Given the description of an element on the screen output the (x, y) to click on. 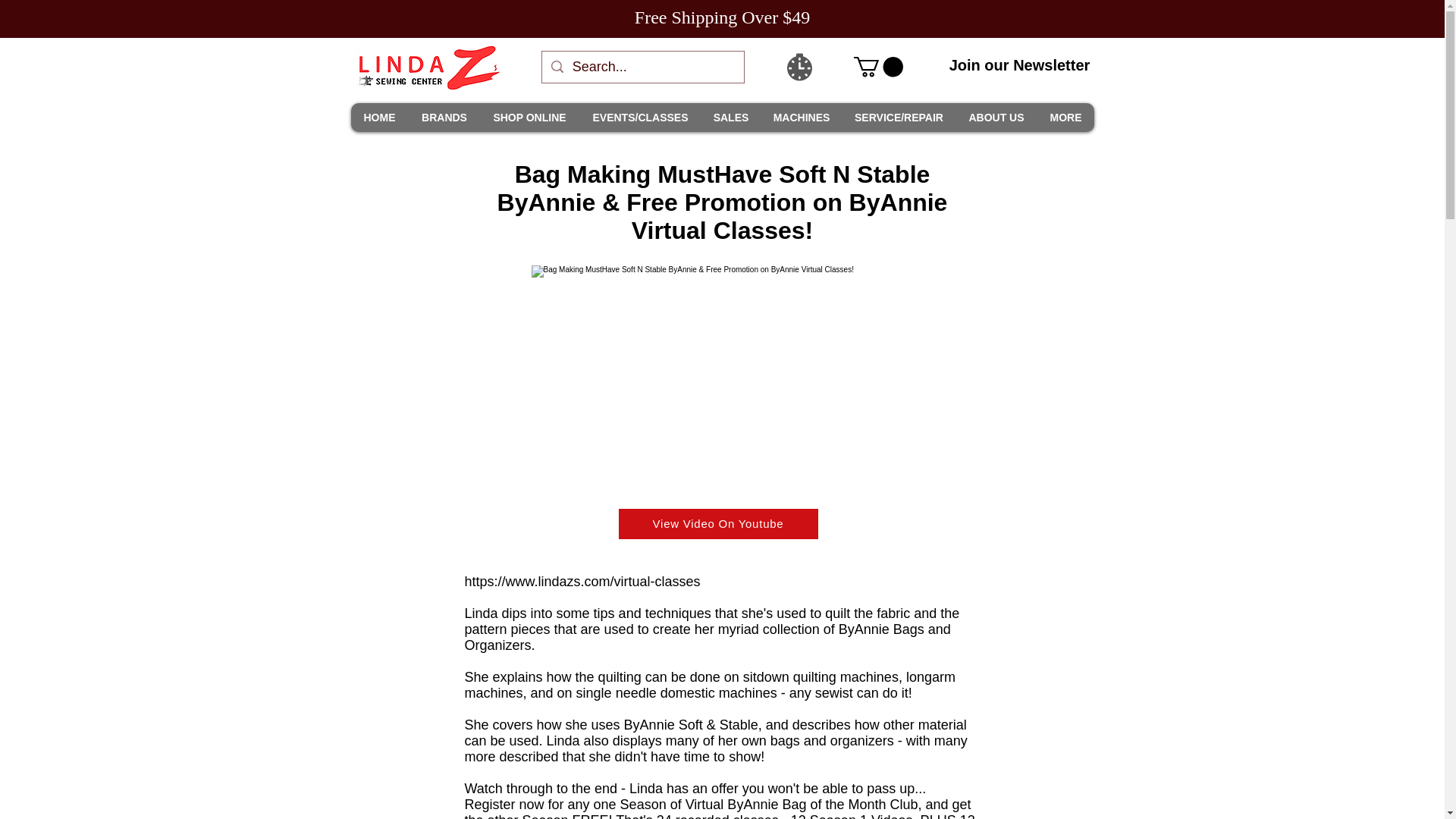
HOME (378, 117)
Go back home (427, 67)
View Video On Youtube (718, 523)
fix.png (721, 371)
ABOUT US (995, 117)
Join our Newsletter (1019, 64)
